Given the description of an element on the screen output the (x, y) to click on. 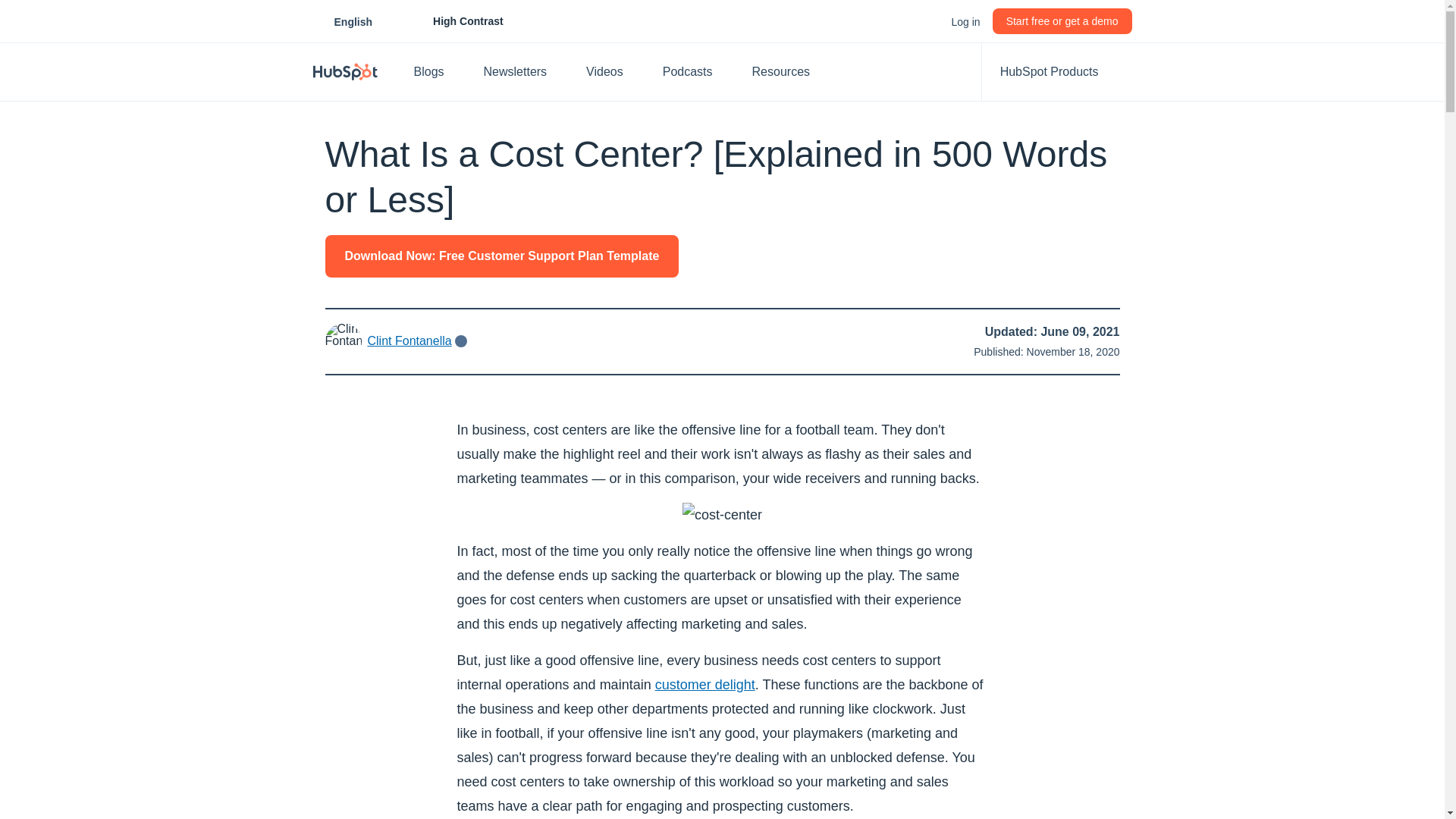
High Contrast (450, 21)
Blogs (436, 71)
Start free or get a demo (1062, 21)
Newsletters (523, 71)
Log in (353, 21)
Videos (964, 21)
